Given the description of an element on the screen output the (x, y) to click on. 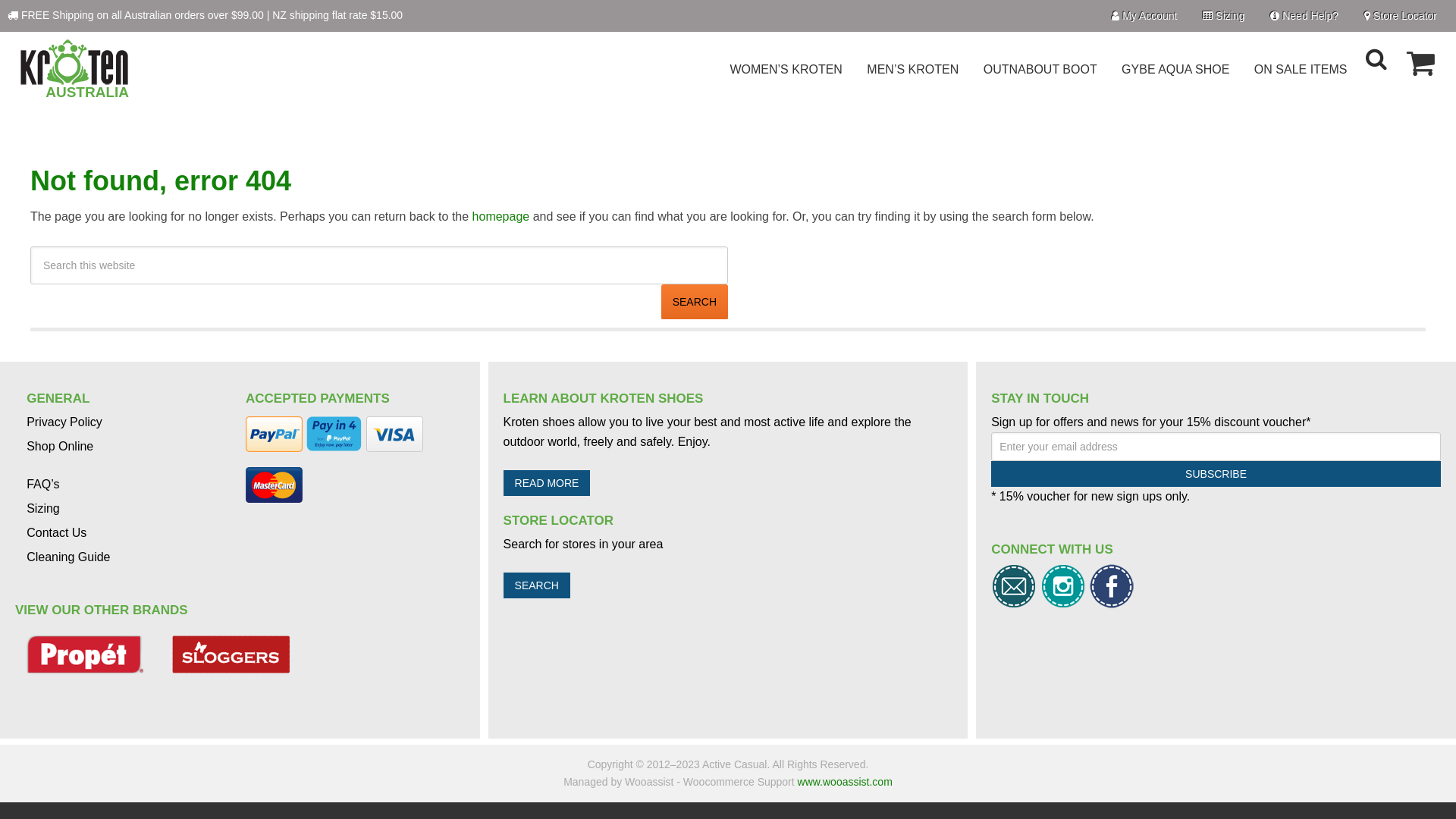
Store Locator Element type: text (1400, 15)
READ MORE Element type: text (546, 482)
Sizing Element type: text (1223, 15)
KROTEN FOOTWEAR - EXPLORE THE OUTDOOR WORLD Element type: text (71, 61)
OUTNABOUT BOOT Element type: text (1039, 80)
Subscribe Element type: text (1215, 473)
homepage Element type: text (501, 216)
Contact Us Element type: text (56, 532)
My Account Element type: text (1144, 15)
GYBE AQUA SHOE Element type: text (1174, 80)
Privacy Policy Element type: text (64, 421)
Search Element type: text (694, 301)
www.wooassist.com Element type: text (844, 781)
Need Help? Element type: text (1303, 15)
Cleaning Guide Element type: text (67, 556)
Shop Online Element type: text (59, 445)
Sizing Element type: text (42, 508)
SEARCH Element type: text (536, 585)
ON SALE ITEMS Element type: text (1300, 80)
